Given the description of an element on the screen output the (x, y) to click on. 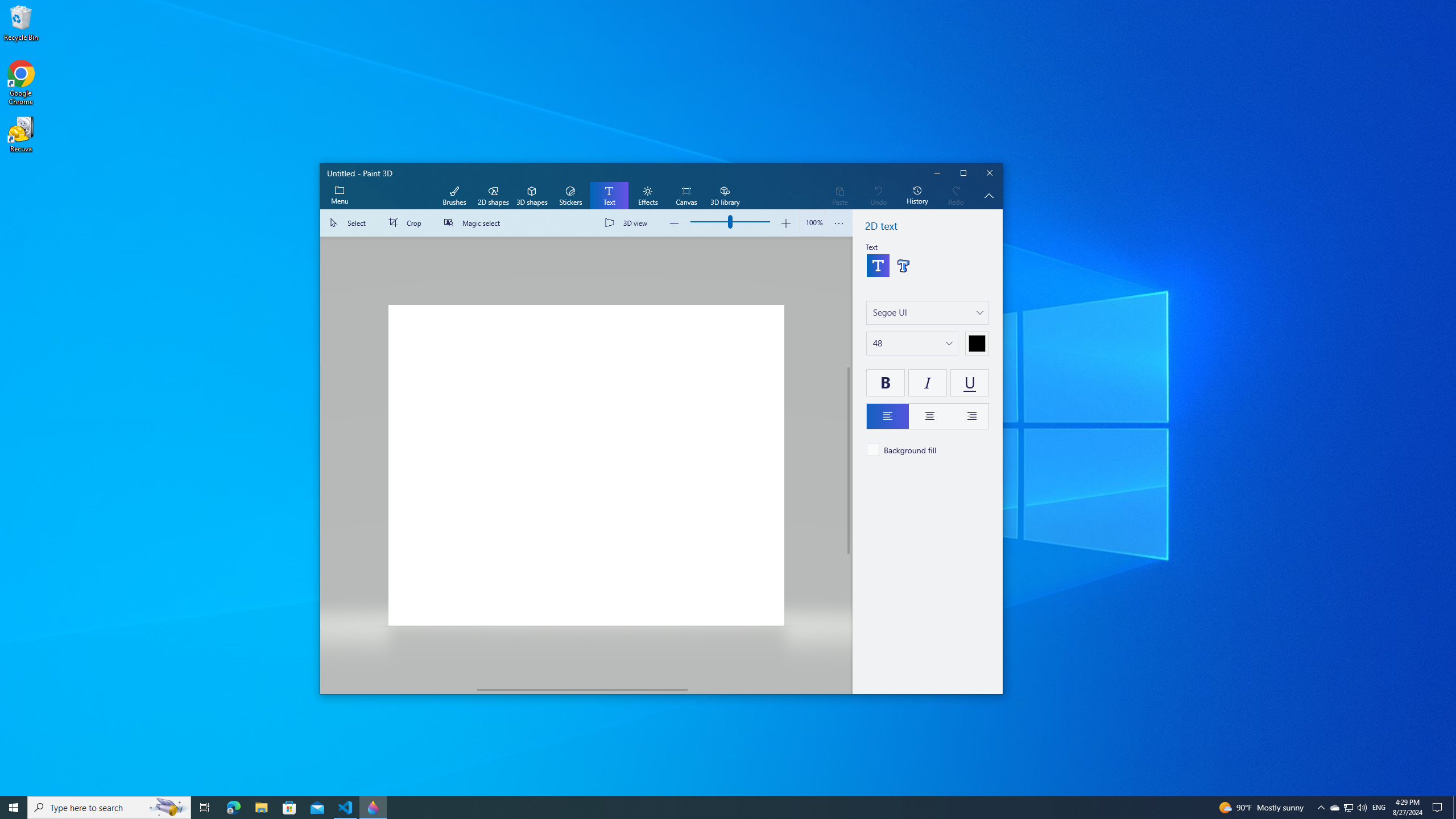
Redo (955, 195)
Background fill (901, 449)
Vertical Large Decrease (848, 301)
Select (350, 222)
3D shapes (531, 195)
Choose a font (927, 312)
Horizontal Large Decrease (398, 689)
Stickers (570, 195)
